Given the description of an element on the screen output the (x, y) to click on. 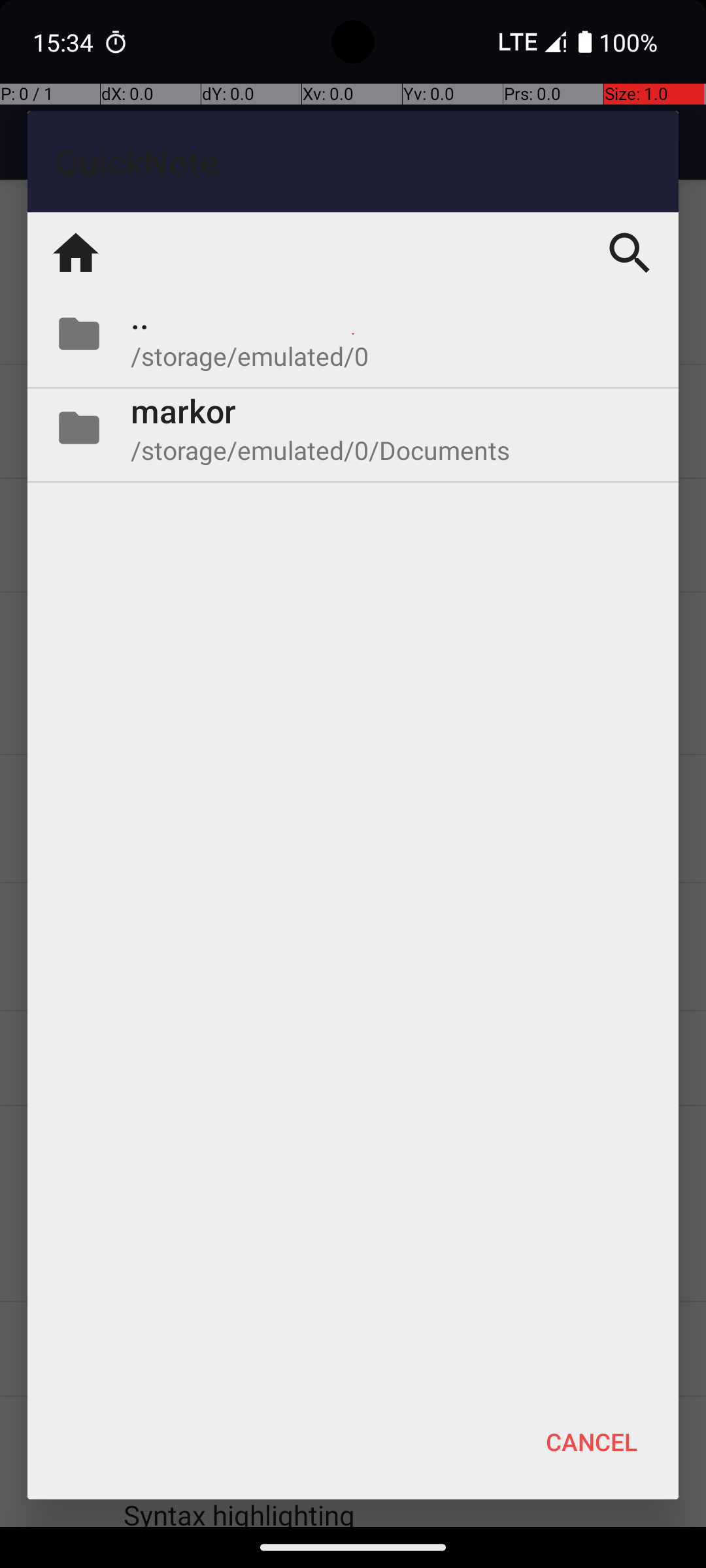
Folder markor  Element type: android.widget.LinearLayout (352, 427)
